Given the description of an element on the screen output the (x, y) to click on. 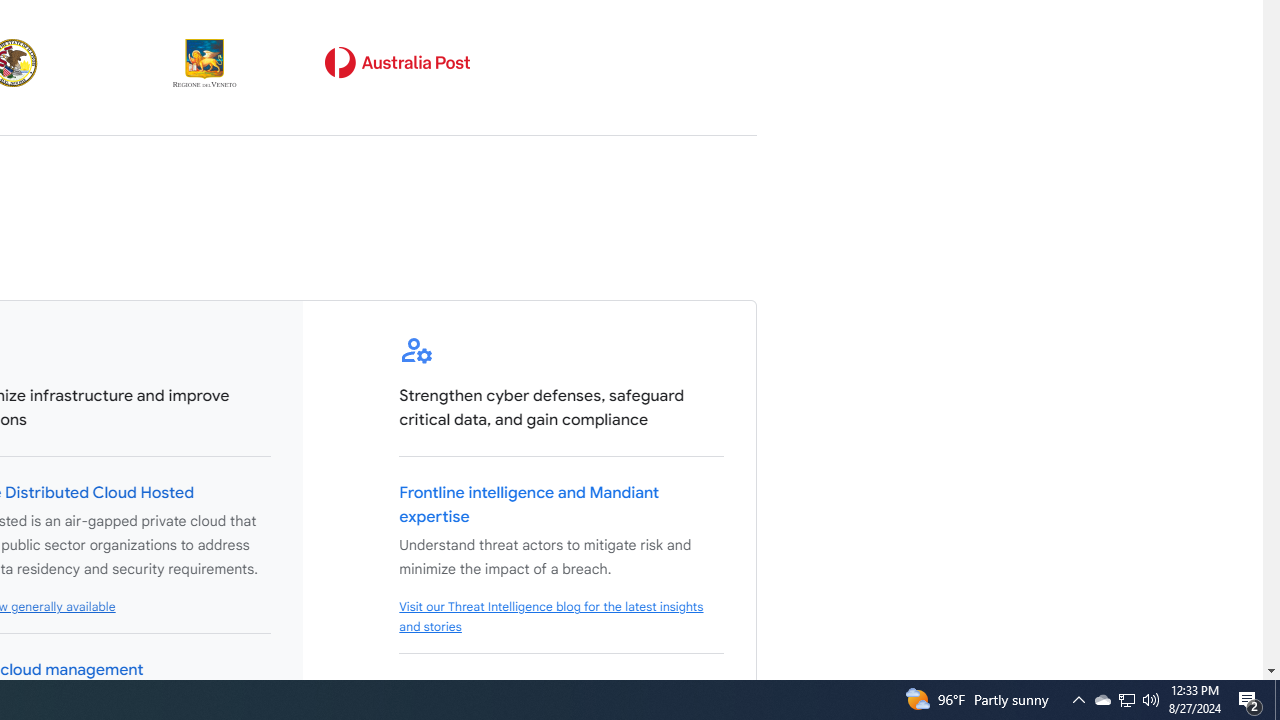
Australia Post (397, 62)
Frontline intelligence and Mandiant expertise (529, 505)
Regione Veneto (205, 62)
